Given the description of an element on the screen output the (x, y) to click on. 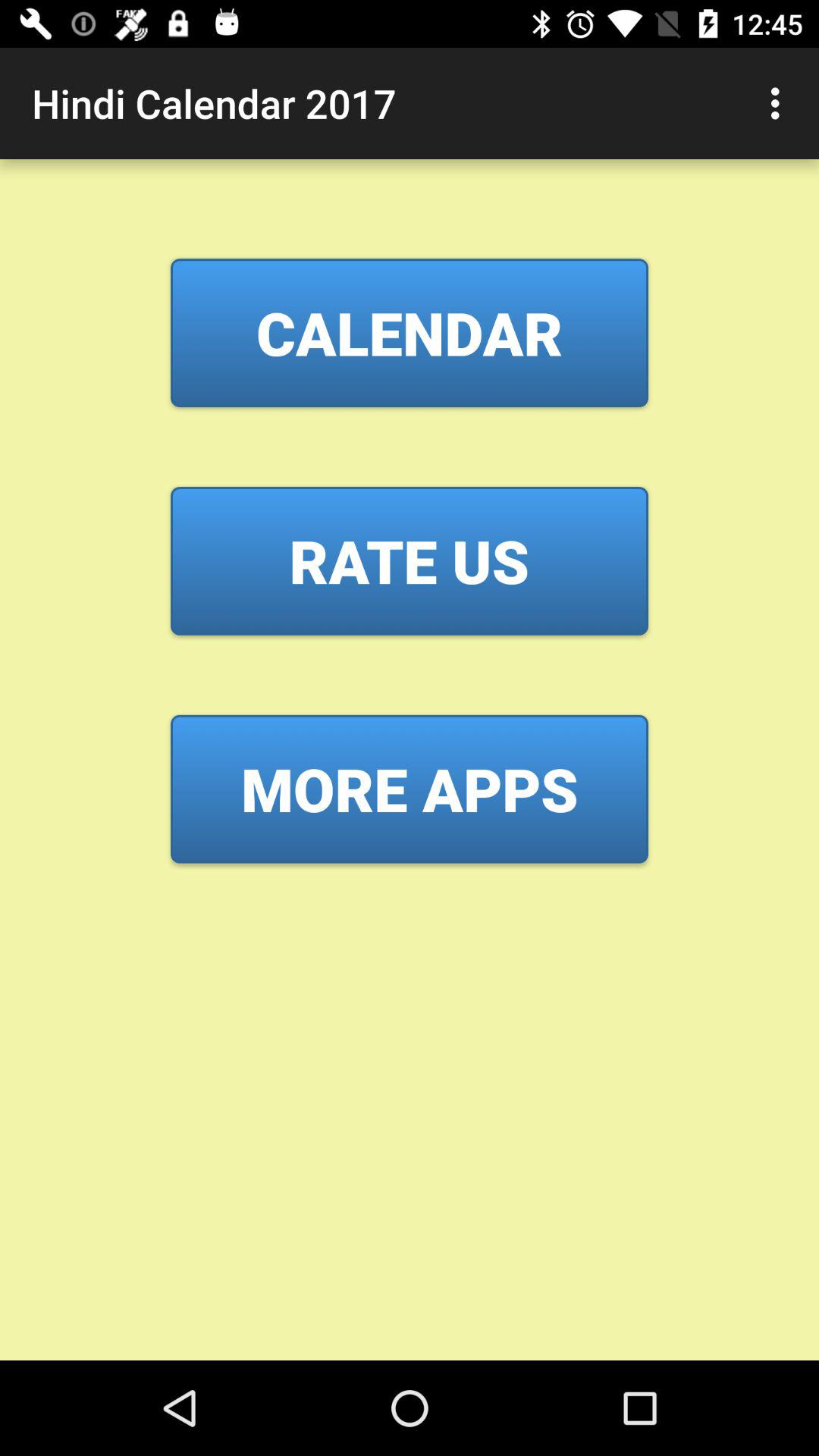
open the icon above more apps (409, 560)
